Given the description of an element on the screen output the (x, y) to click on. 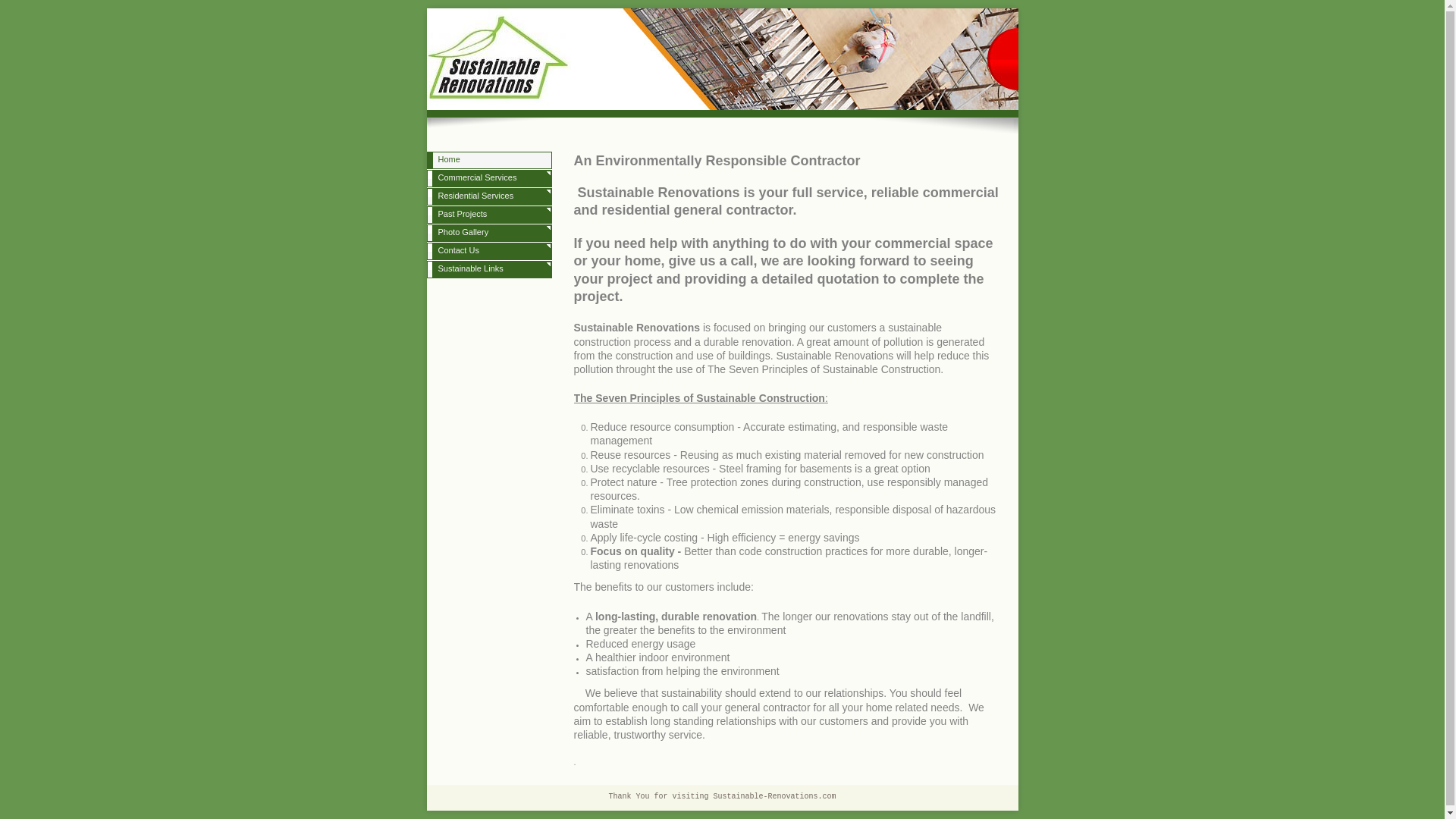
Residential Services (488, 197)
Home (488, 160)
Contact Us (488, 251)
Commercial Services (488, 178)
Sustainable Links (488, 270)
Past Projects (488, 215)
Photo Gallery (488, 233)
